Given the description of an element on the screen output the (x, y) to click on. 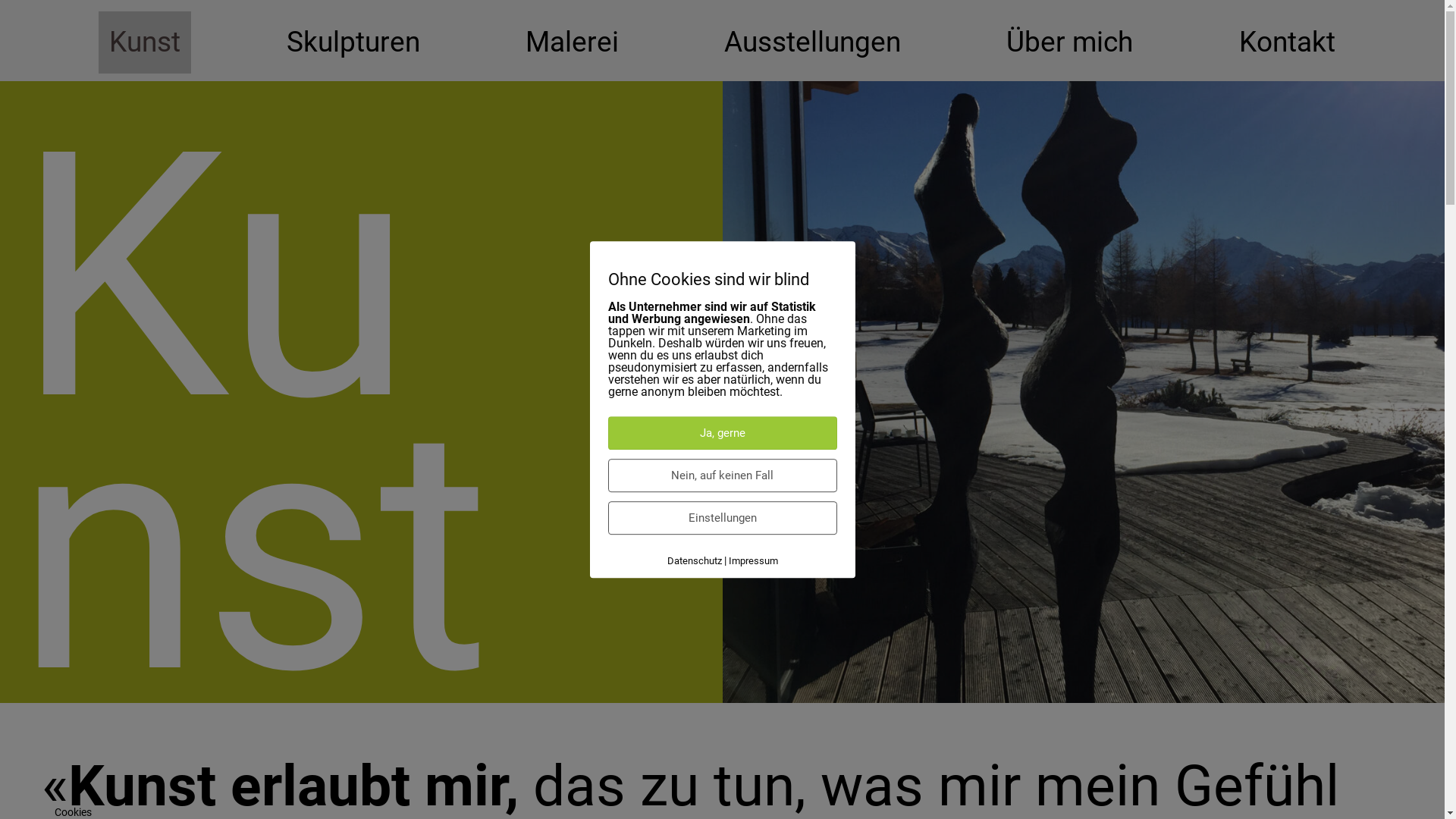
Ja, gerne Element type: text (722, 432)
Einstellungen Element type: text (722, 517)
Ausstellungen Element type: text (812, 42)
Kontakt Element type: text (1287, 42)
Nein, auf keinen Fall Element type: text (722, 475)
Kunst Element type: text (144, 42)
Datenschutz Element type: text (694, 560)
Malerei Element type: text (571, 42)
Impressum Element type: text (752, 560)
Skulpturen Element type: text (353, 42)
